Given the description of an element on the screen output the (x, y) to click on. 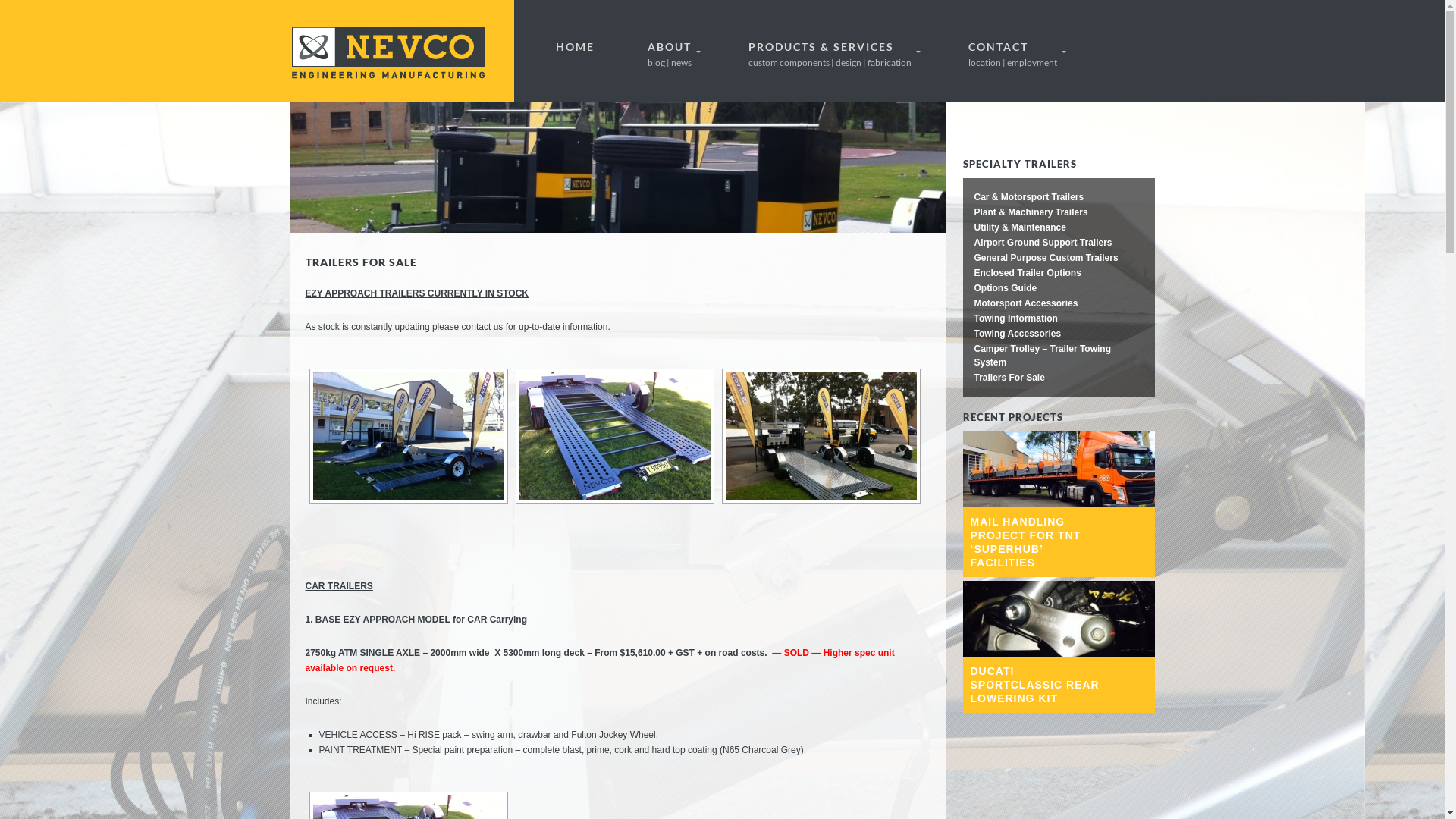
General Purpose Custom Trailers Element type: text (1045, 257)
Plant & Machinery Trailers Element type: text (1030, 212)
DUCATI SPORTCLASSIC REAR LOWERING KIT  Element type: text (1058, 684)
CONTACT
location | employment Element type: text (1014, 51)
ABOUT
blog | news Element type: text (670, 51)
Towing Information Element type: text (1015, 318)
Options Guide Element type: text (1004, 287)
Trailers For Sale Element type: text (1008, 377)
Car & Motorsport Trailers Element type: text (1028, 196)
Towing Accessories Element type: text (1016, 333)
Motorsport Accessories Element type: text (1025, 303)
Airport Ground Support Trailers Element type: text (1042, 242)
PRODUCTS & SERVICES
custom components | design | fabrication Element type: text (831, 51)
HOME Element type: text (574, 46)
Enclosed Trailer Options Element type: text (1026, 272)
Utility & Maintenance Element type: text (1019, 227)
